Given the description of an element on the screen output the (x, y) to click on. 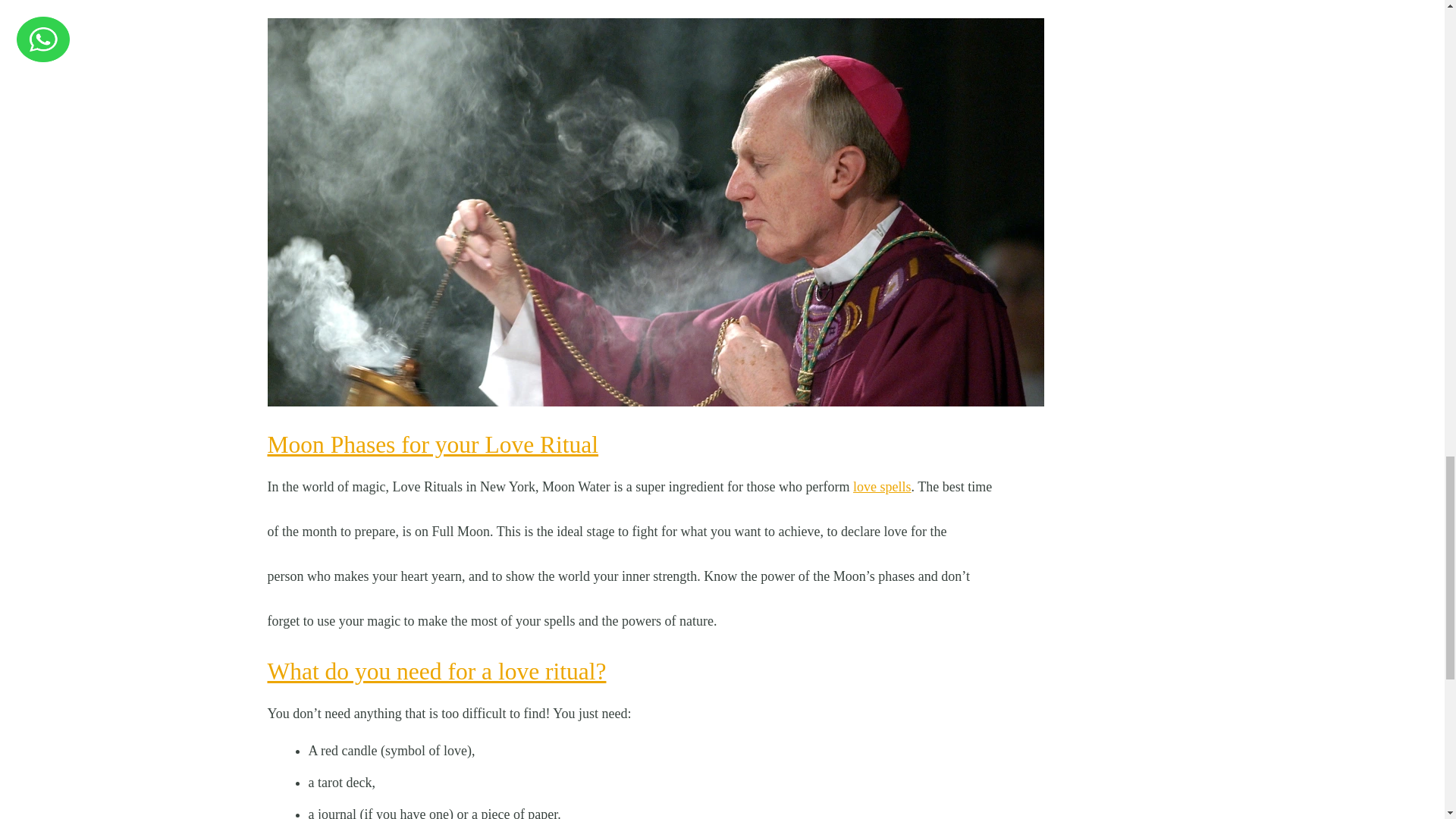
love spells (882, 486)
Moon Phases for your Love Ritual (432, 444)
What do you need for a love ritual? (435, 671)
